Given the description of an element on the screen output the (x, y) to click on. 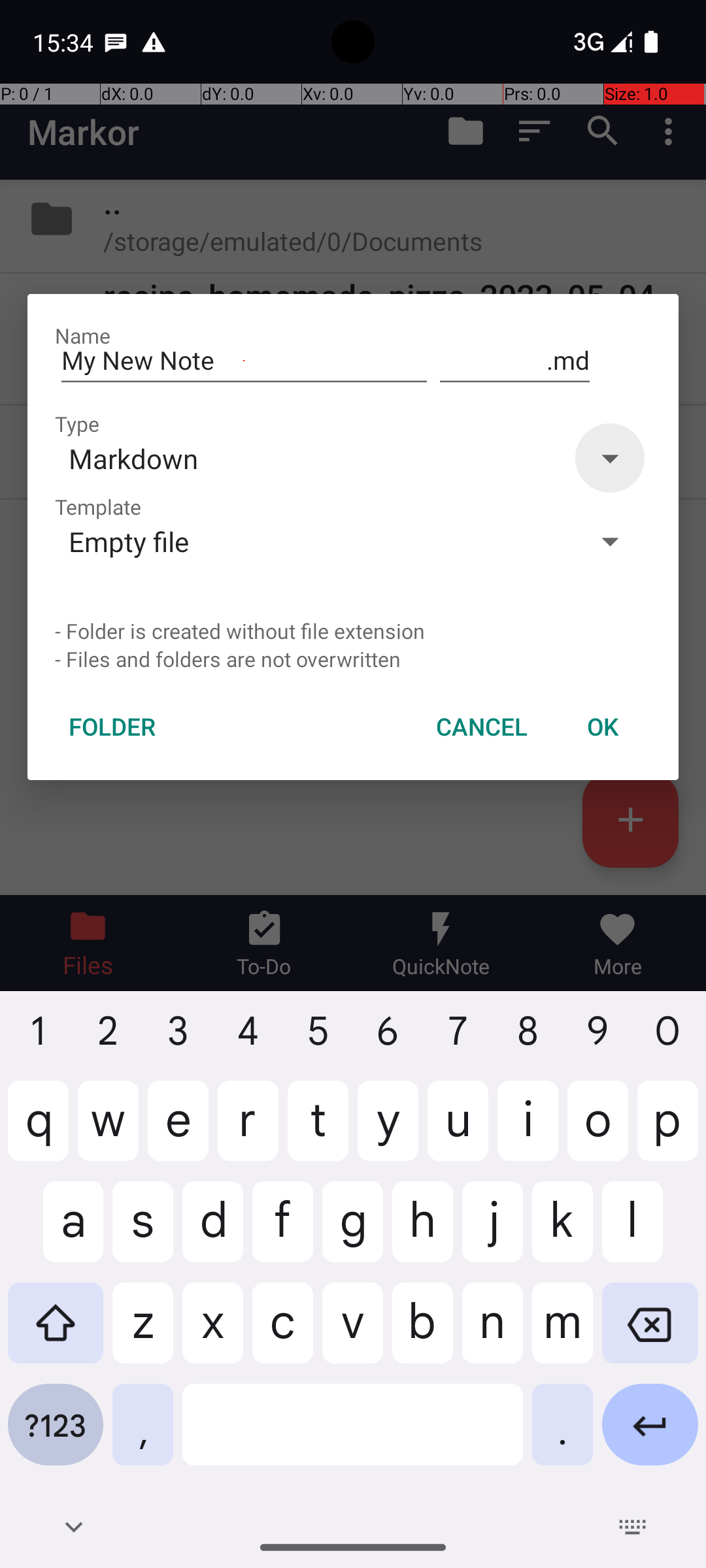
My New Note Element type: android.widget.EditText (243, 360)
.md Element type: android.widget.EditText (514, 360)
Type Element type: android.widget.TextView (76, 423)
Template Element type: android.widget.TextView (97, 506)
- Folder is created without file extension Element type: android.widget.TextView (352, 630)
- Files and folders are not overwritten Element type: android.widget.TextView (352, 658)
FOLDER Element type: android.widget.Button (111, 726)
Markdown Element type: android.widget.TextView (311, 457)
Empty file Element type: android.widget.TextView (311, 540)
